Given the description of an element on the screen output the (x, y) to click on. 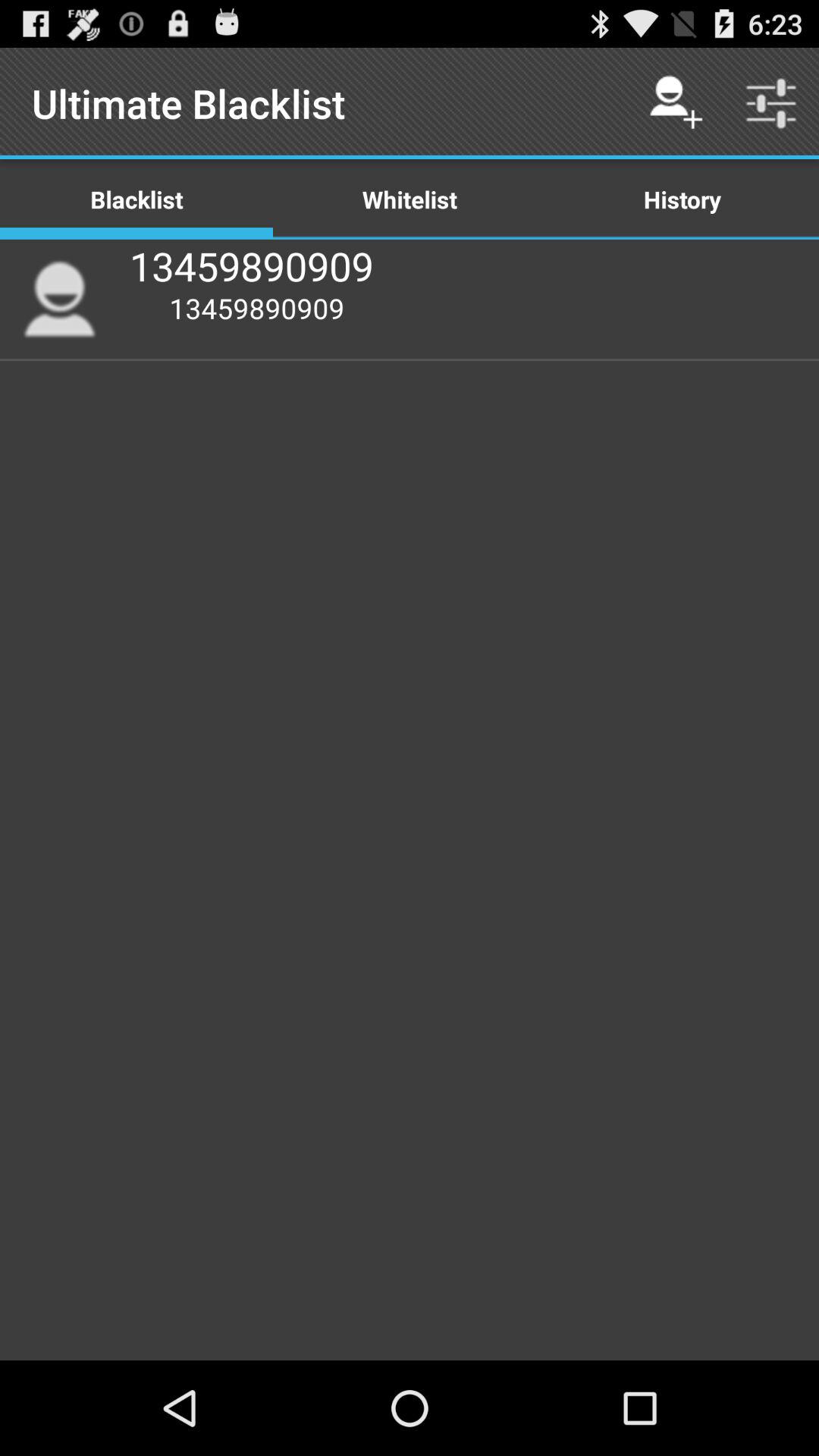
choose icon to the left of the history icon (409, 199)
